Given the description of an element on the screen output the (x, y) to click on. 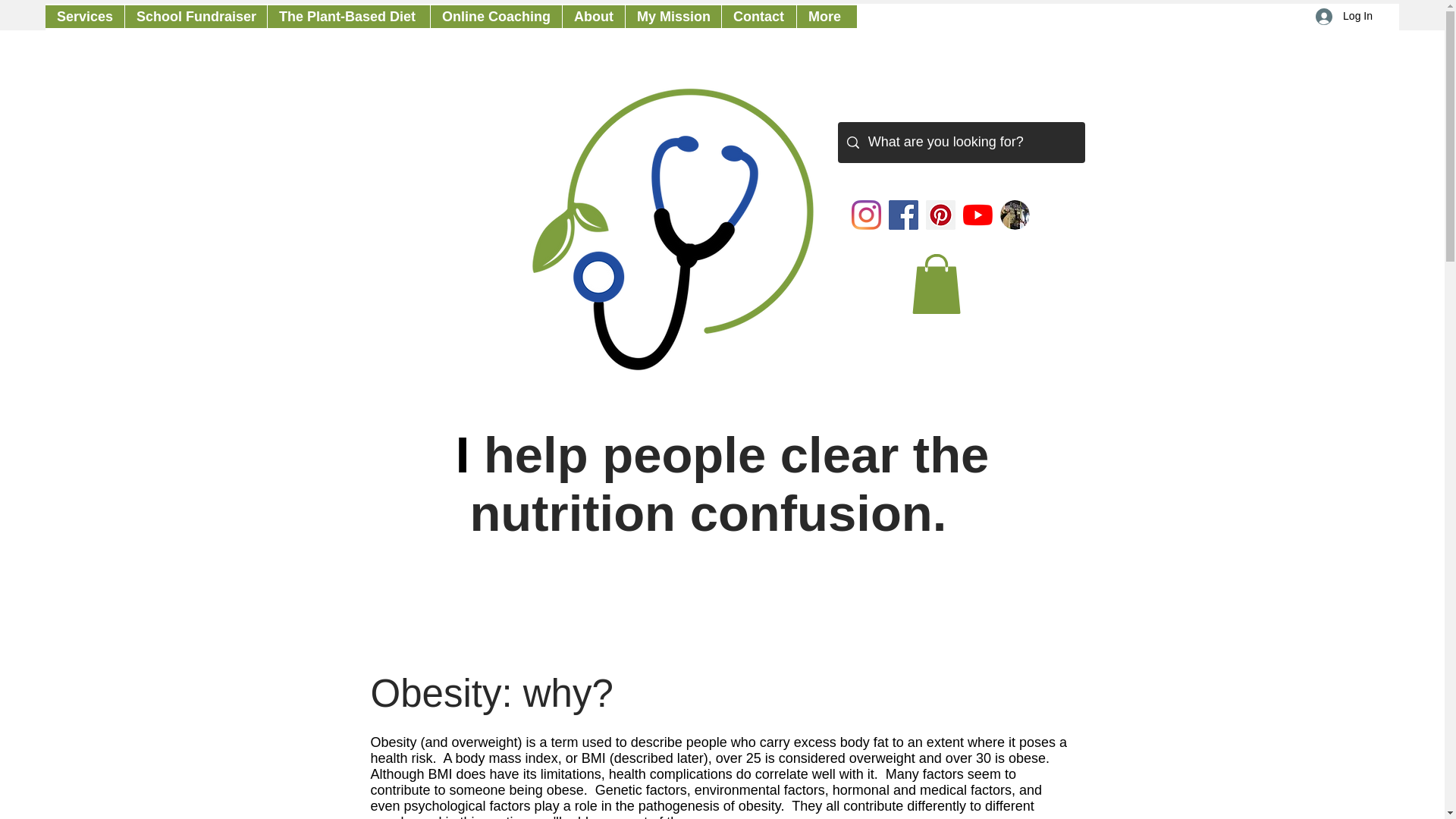
Contact (758, 15)
Log In (1343, 16)
About (593, 15)
My Mission (672, 15)
School Fundraiser (194, 15)
The Plant-Based Diet (347, 15)
Online Coaching (495, 15)
Services (84, 15)
